Given the description of an element on the screen output the (x, y) to click on. 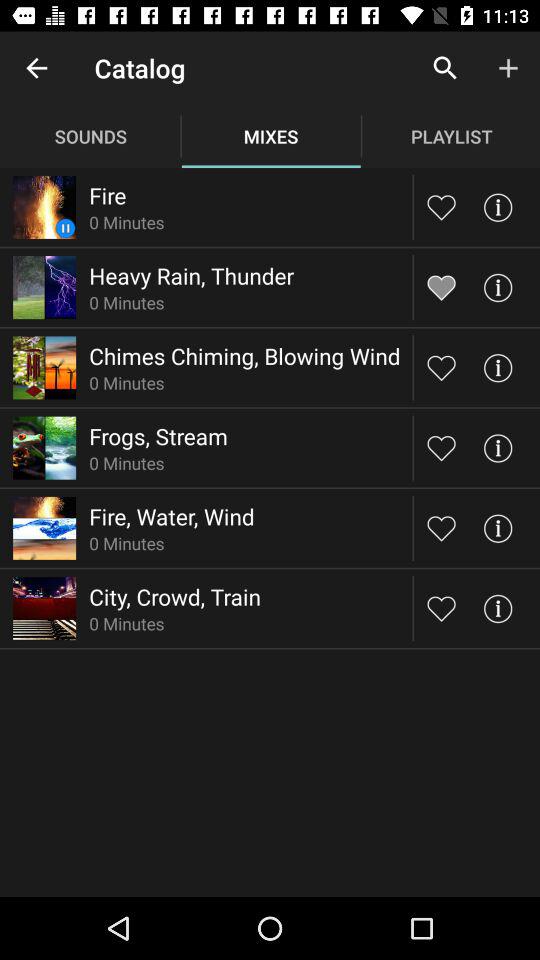
to like a particular picture (441, 206)
